Given the description of an element on the screen output the (x, y) to click on. 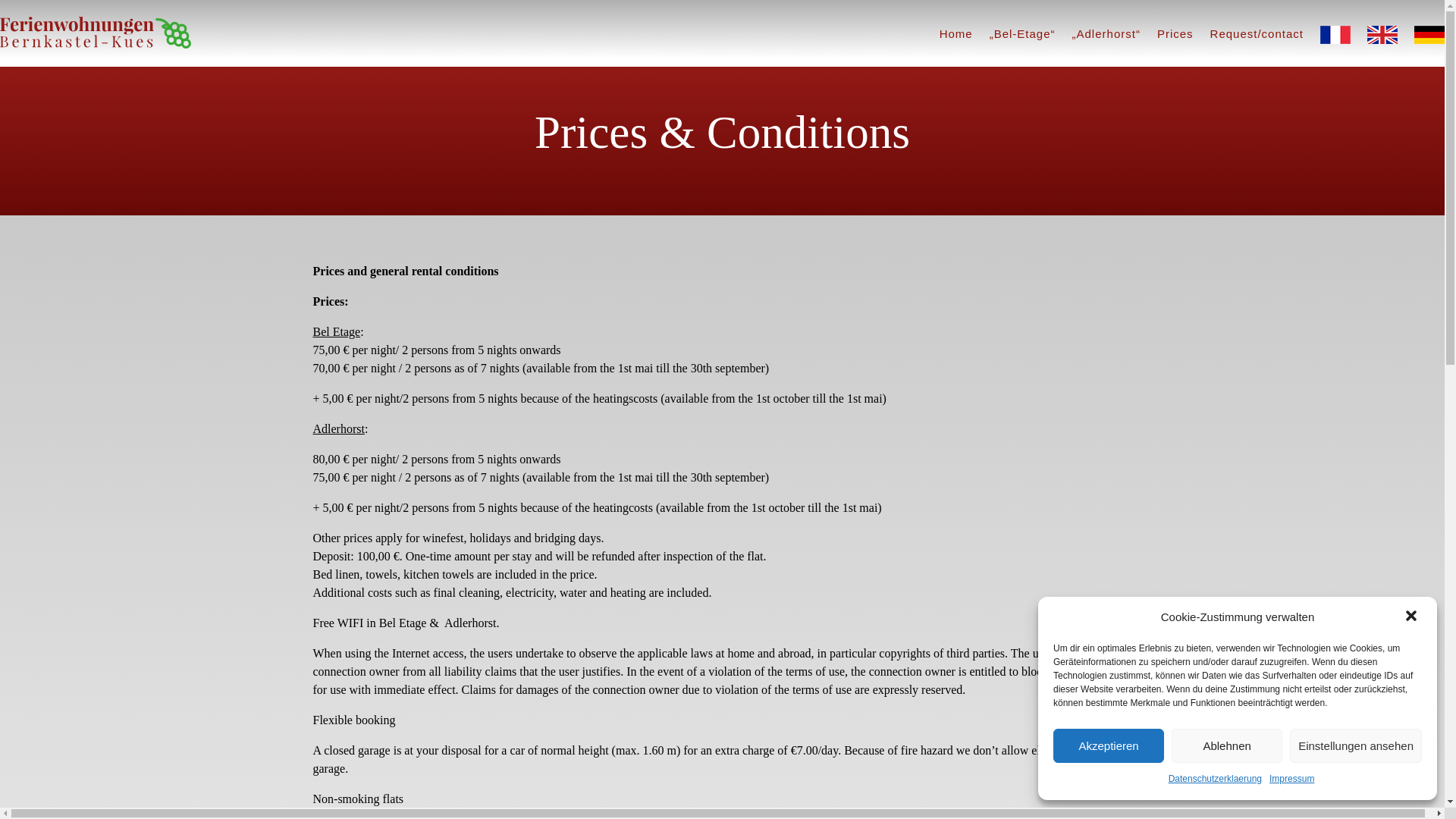
Prices (1175, 39)
Home (955, 39)
Impressum (1291, 779)
Datenschutzerklaerung (1215, 779)
Akzeptieren (1107, 745)
Logo-rot-gruen (95, 32)
Ablehnen (1227, 745)
Einstellungen ansehen (1356, 745)
